Given the description of an element on the screen output the (x, y) to click on. 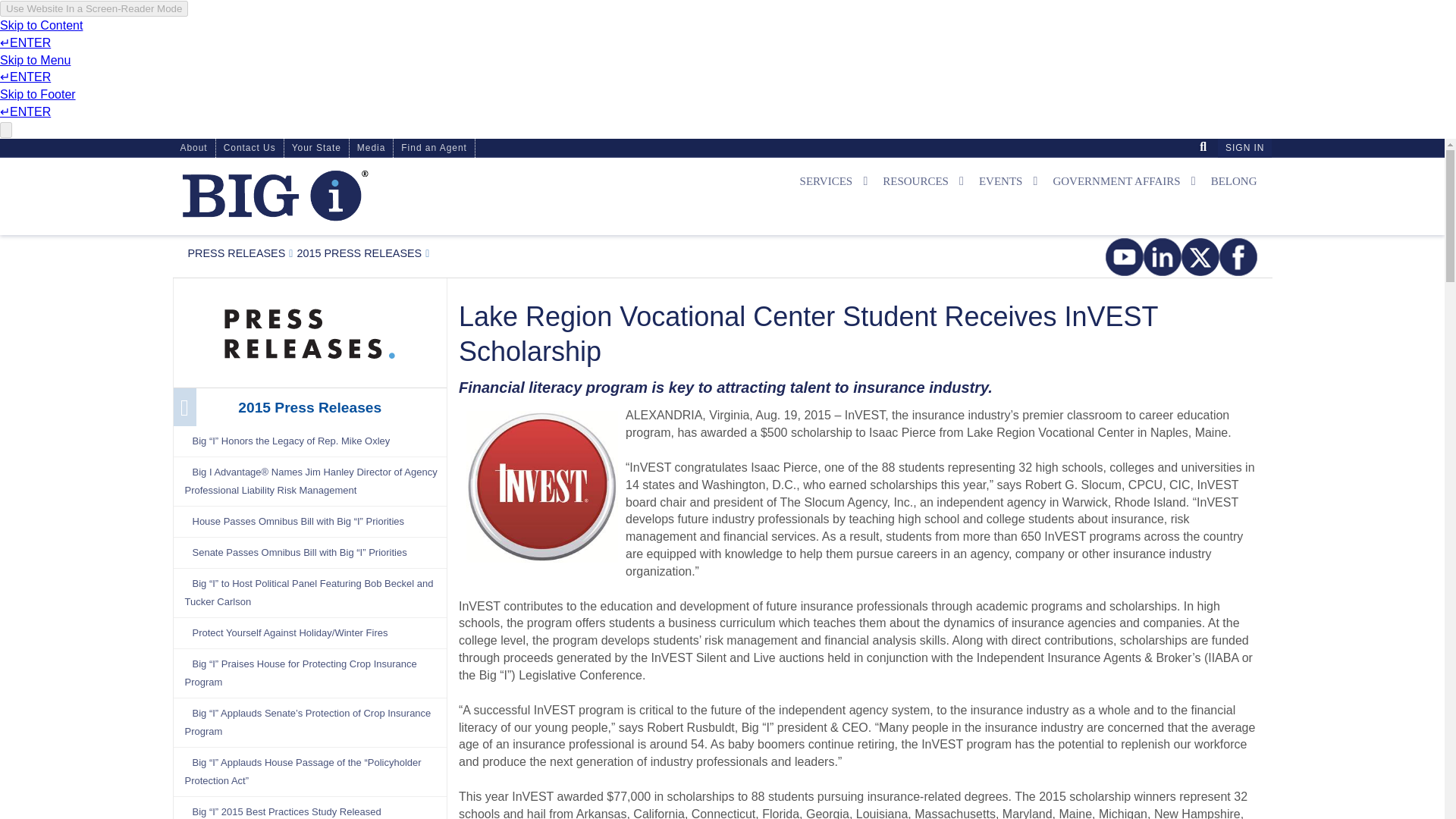
Your State (316, 147)
Find an Agent (433, 147)
About (194, 147)
Home (274, 195)
Home (350, 196)
IACBWS06 (5, 5)
Media (236, 253)
Contact Us (249, 147)
Media (310, 330)
SIGN IN (1244, 148)
Sign In to access benefits (1244, 148)
2015 (359, 253)
Media (371, 147)
